Given the description of an element on the screen output the (x, y) to click on. 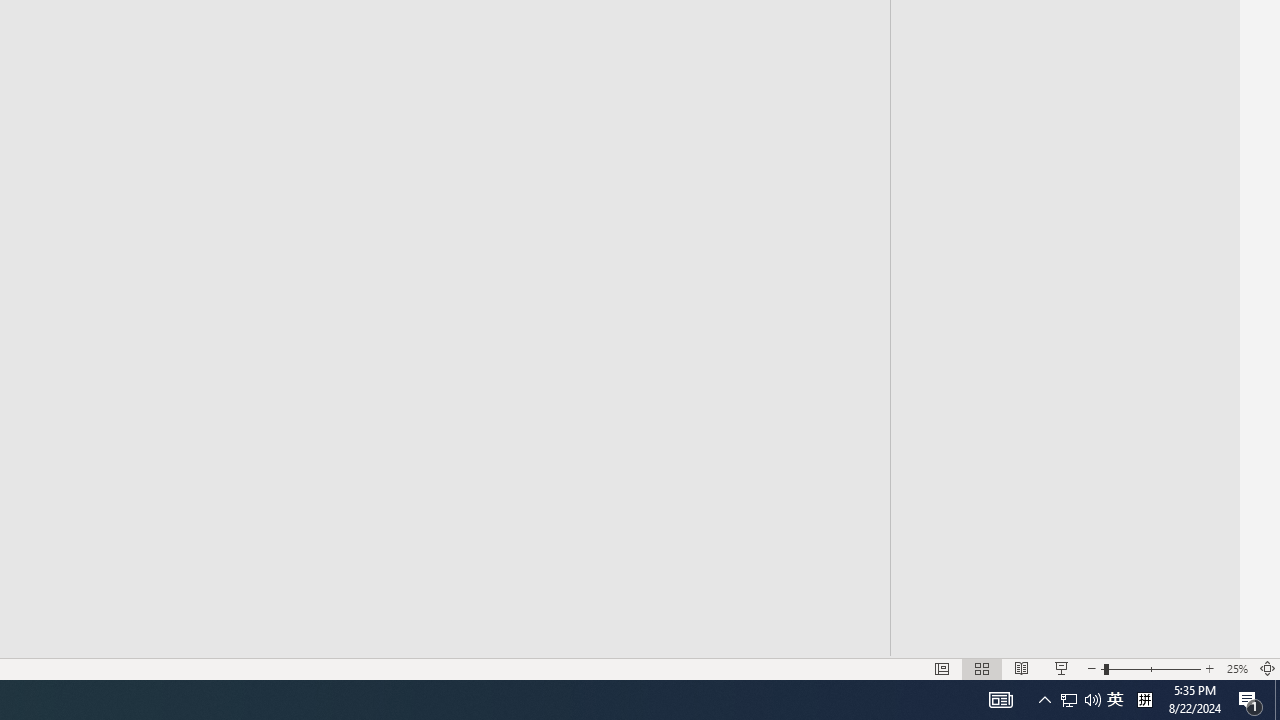
Zoom 25% (1236, 668)
